Given the description of an element on the screen output the (x, y) to click on. 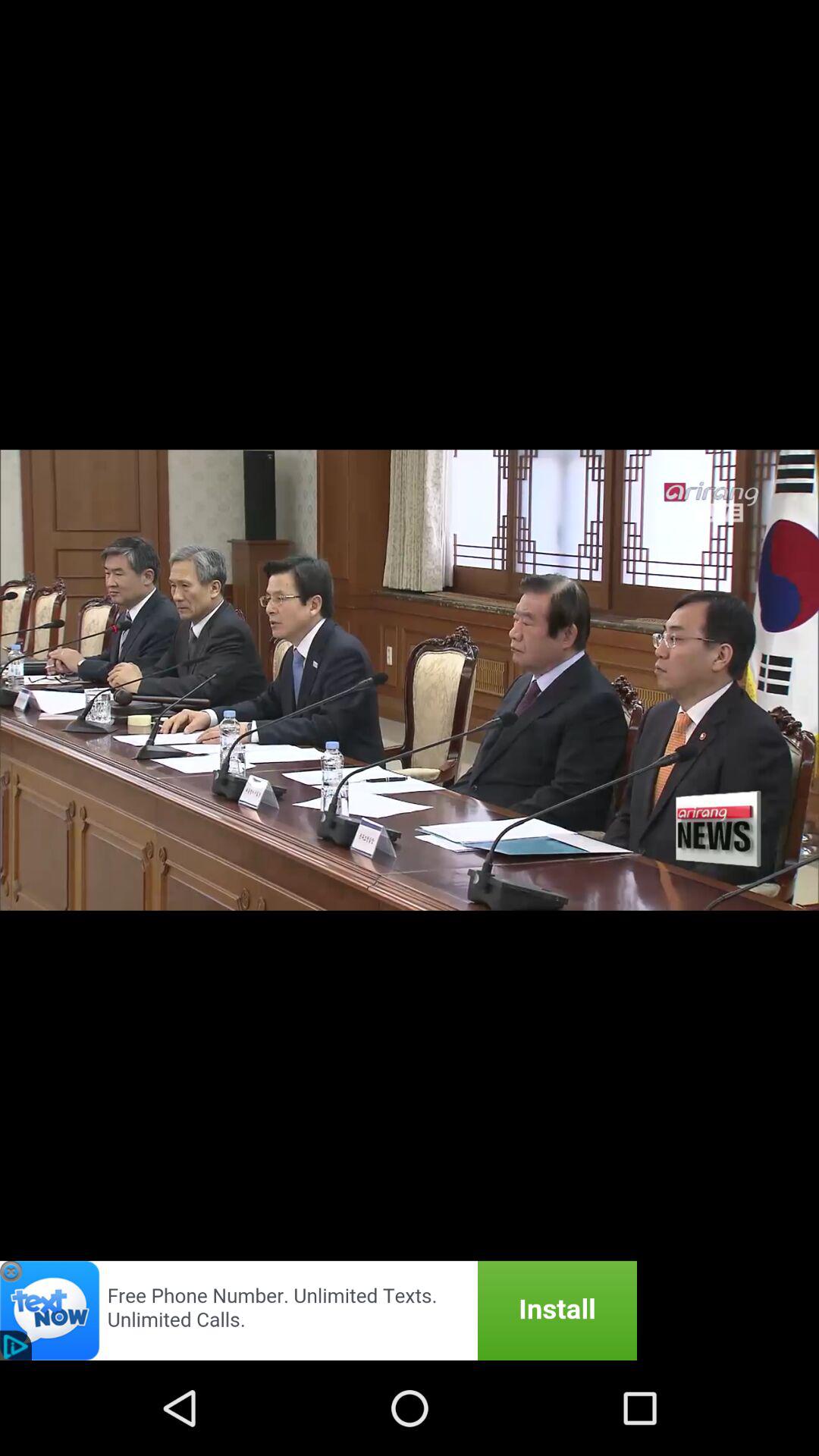
select the advertisement (318, 1310)
